Given the description of an element on the screen output the (x, y) to click on. 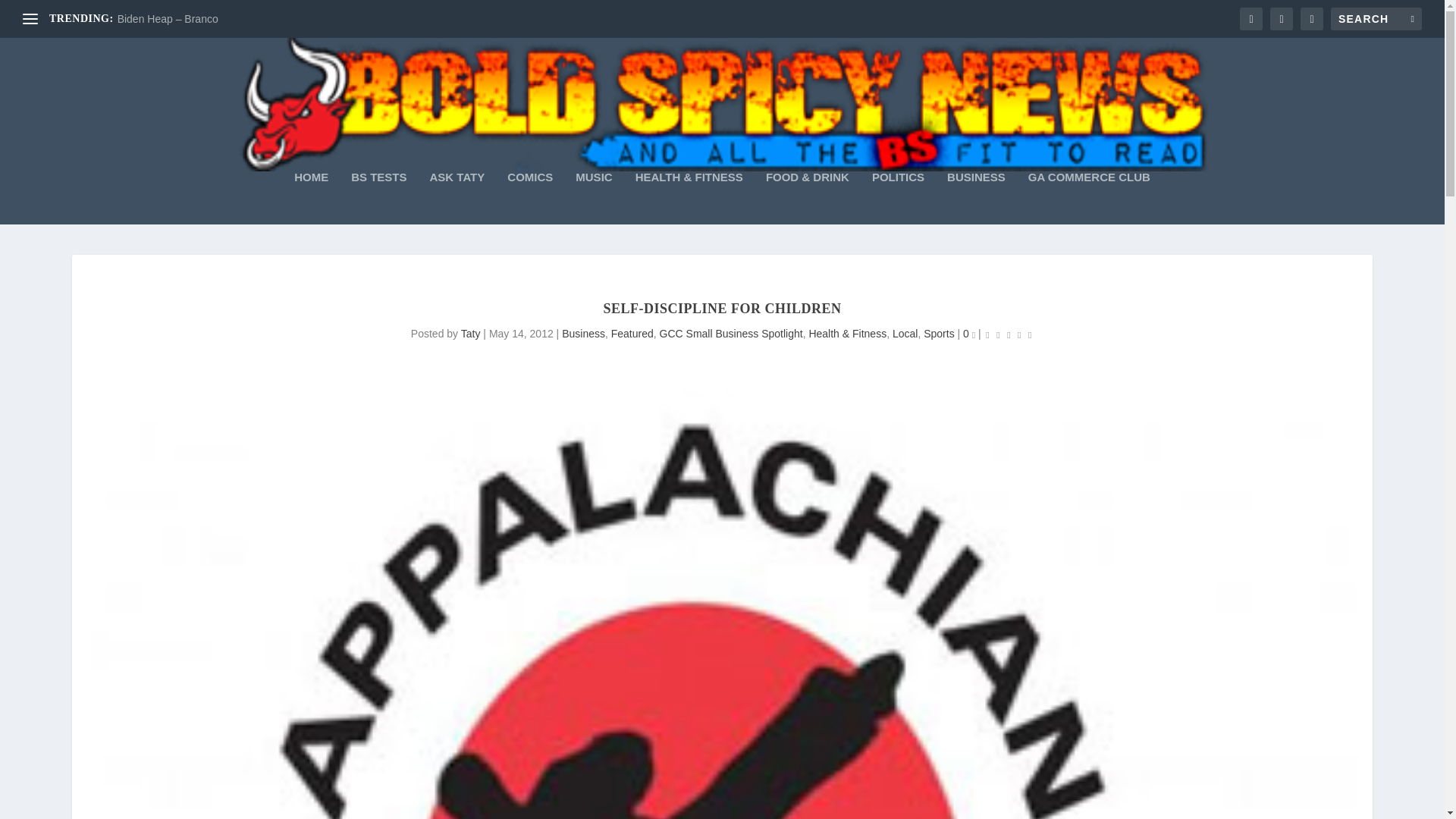
ASK TATY (456, 197)
GA COMMERCE CLUB (1088, 197)
POLITICS (898, 197)
BS TESTS (378, 197)
Rating: 0.00 (1008, 334)
BUSINESS (976, 197)
Search for: (1376, 18)
Posts by Taty (470, 333)
